Given the description of an element on the screen output the (x, y) to click on. 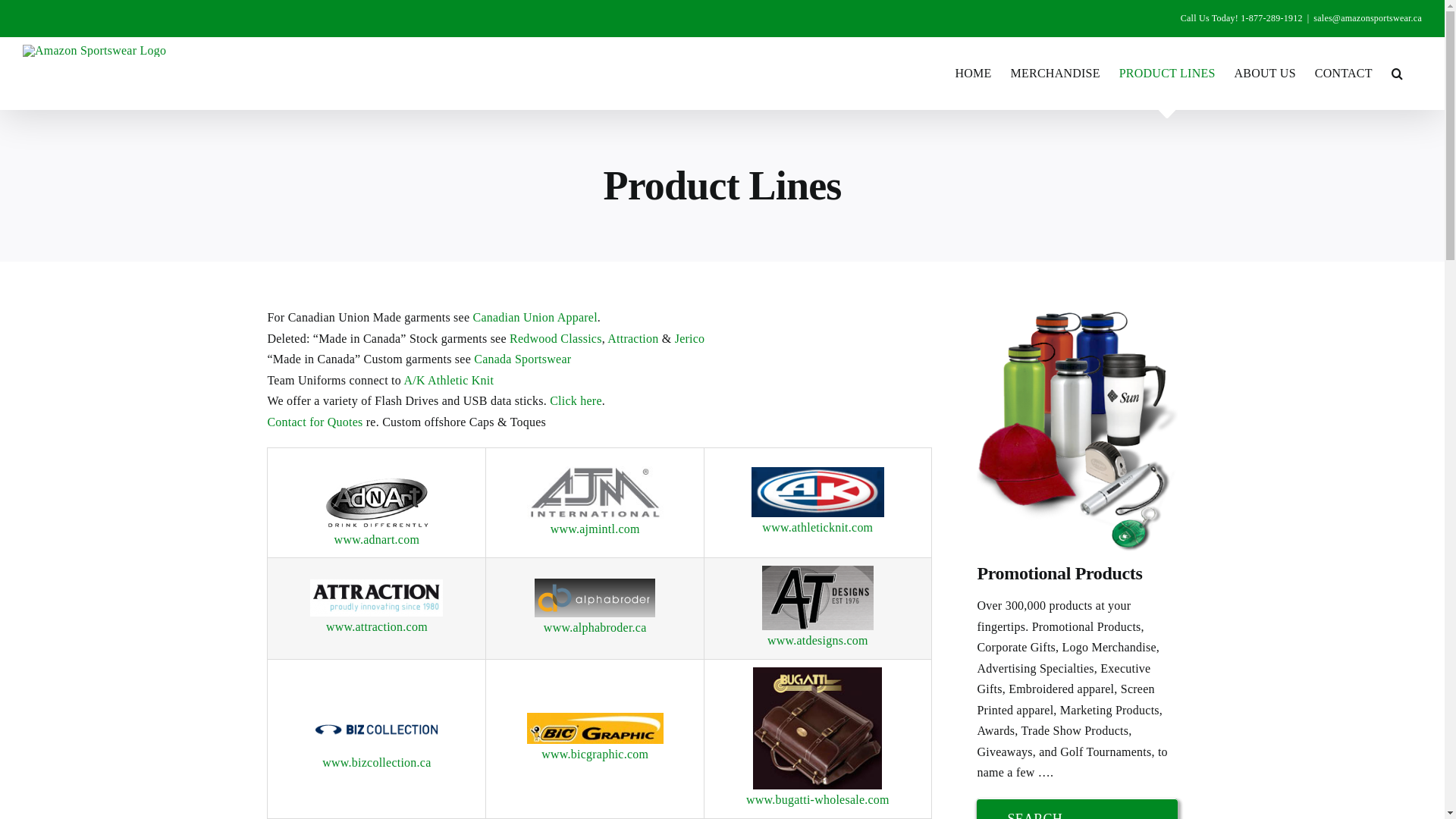
www.alphabroder.ca Element type: text (594, 627)
Search Element type: hover (1396, 73)
www.adnart.com Element type: text (377, 539)
Canada Sportswear Element type: text (522, 358)
bagetti Element type: hover (817, 728)
Contact for Quotes Element type: text (314, 421)
www.ajmintl.com Element type: text (595, 528)
ABOUT US Element type: text (1264, 73)
Jerico Element type: text (689, 338)
AJM_logo Element type: hover (595, 491)
Redwood Classics Element type: text (555, 338)
sales-promotion Element type: hover (1076, 429)
Attraction Element type: text (632, 338)
bic_graphic_logo Element type: hover (595, 727)
www.bicgraphic.com Element type: text (594, 753)
Click here Element type: text (575, 400)
www.bugatti-wholesale.com Element type: text (817, 799)
www.athleticknit.com Element type: text (817, 526)
MERCHANDISE Element type: text (1055, 73)
www.atdesigns.com Element type: text (817, 639)
www.bizcollection.ca Element type: text (376, 762)
HOME Element type: text (972, 73)
www.attraction.com Element type: text (376, 626)
A/K Athletic Knit Element type: text (448, 379)
CONTACT Element type: text (1343, 73)
Canadian Union Apparel Element type: text (535, 316)
PRODUCT LINES Element type: text (1167, 73)
sales@amazonsportswear.ca Element type: text (1367, 17)
